Given the description of an element on the screen output the (x, y) to click on. 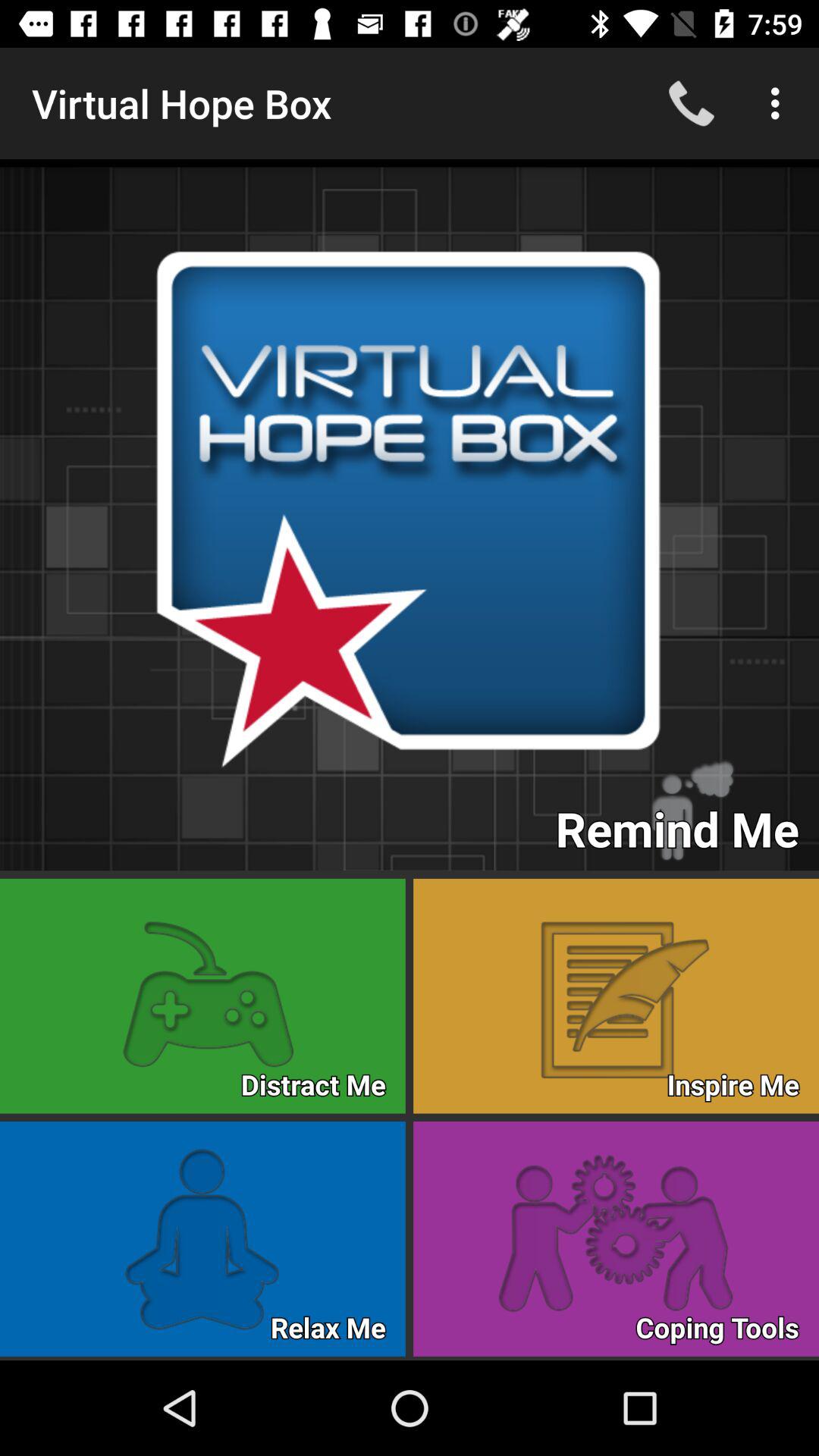
turn off item next to virtual hope box item (691, 103)
